Given the description of an element on the screen output the (x, y) to click on. 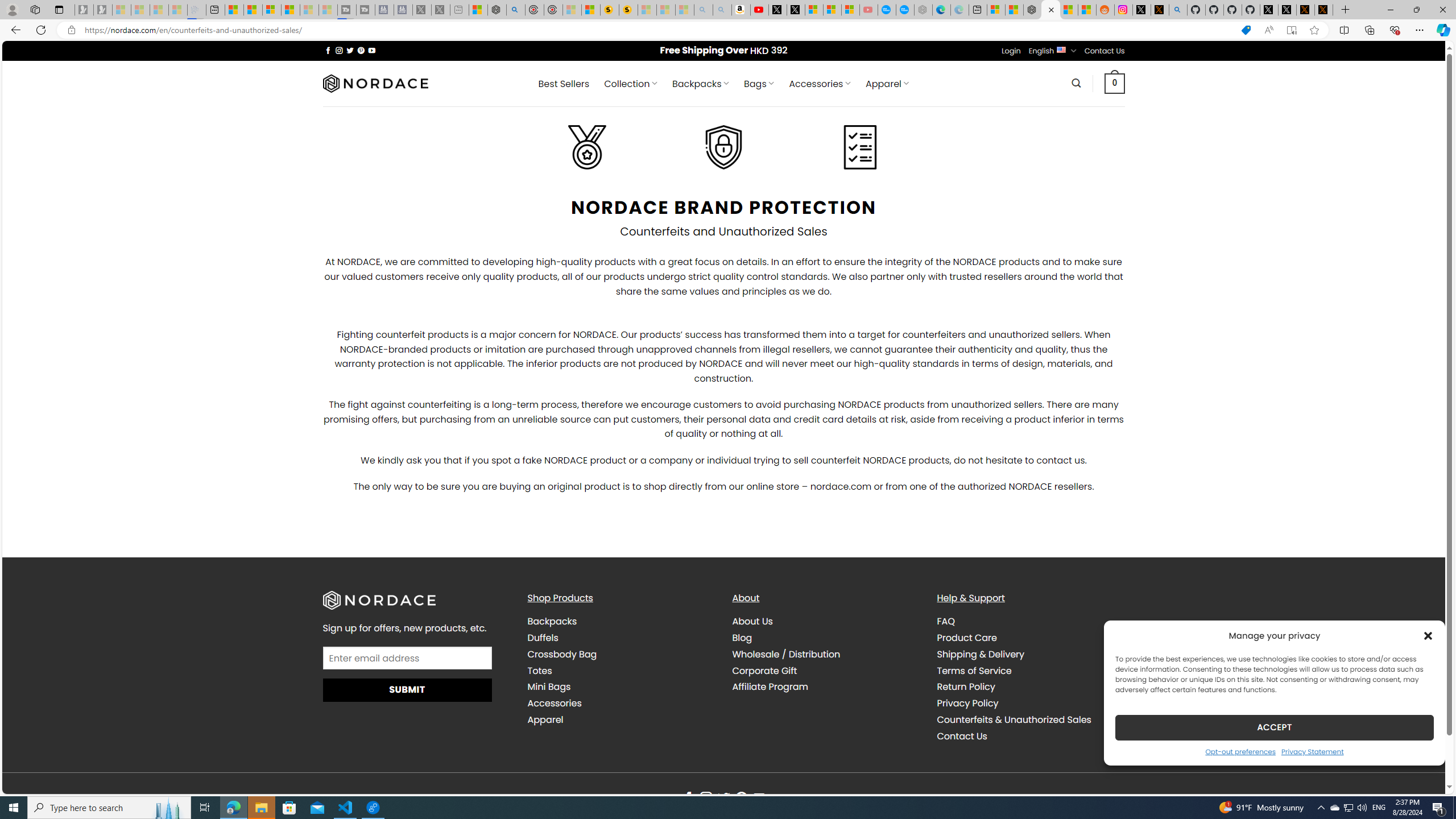
  Best Sellers (563, 83)
Mini Bags (620, 686)
FAQ (945, 621)
Blog (742, 637)
Login (1010, 50)
